Given the description of an element on the screen output the (x, y) to click on. 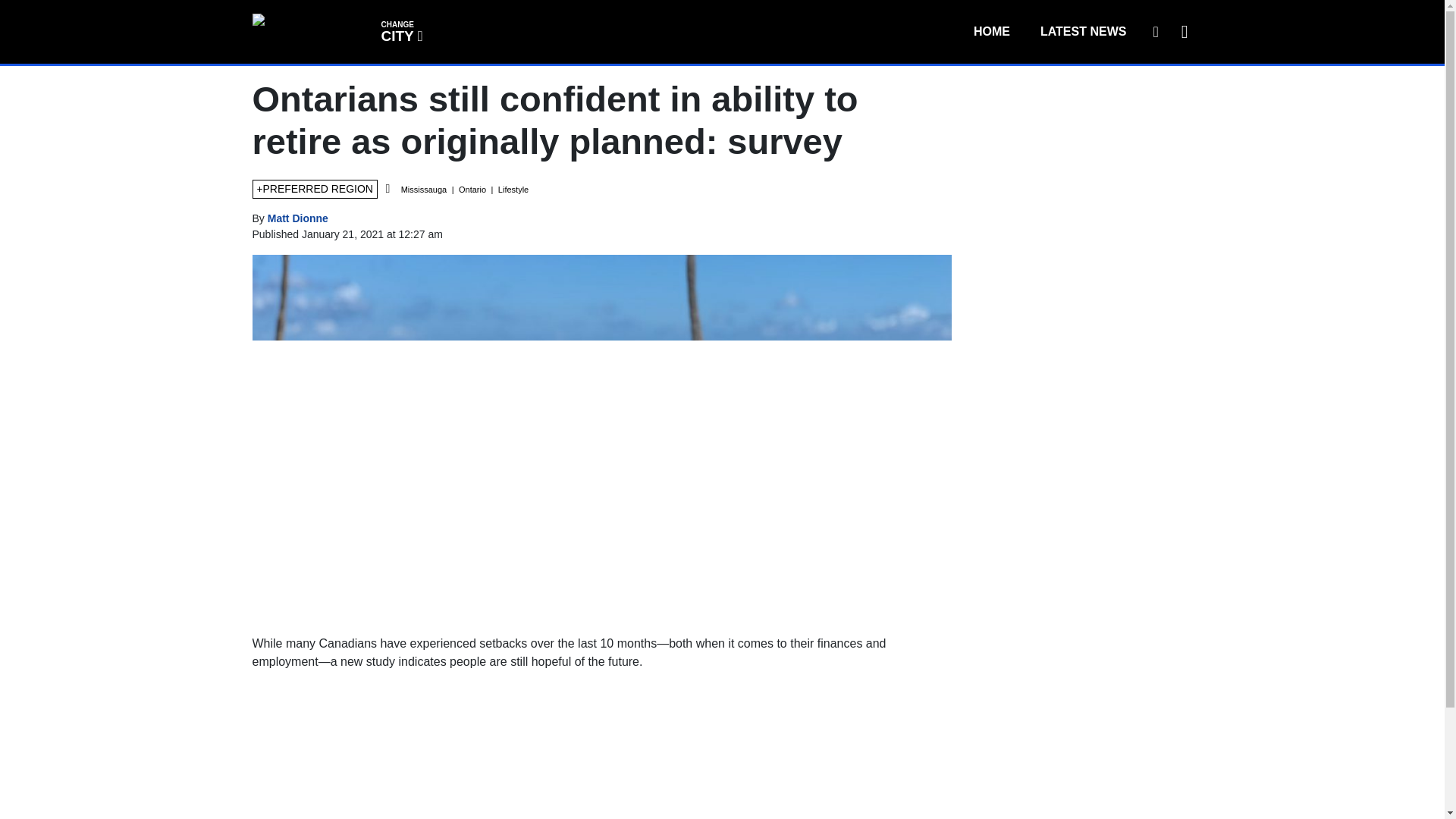
LATEST NEWS (1083, 31)
HOME (991, 31)
SIGN UP FOR OUR NEWSLETTER (1155, 31)
Posts by 814 (400, 30)
